Given the description of an element on the screen output the (x, y) to click on. 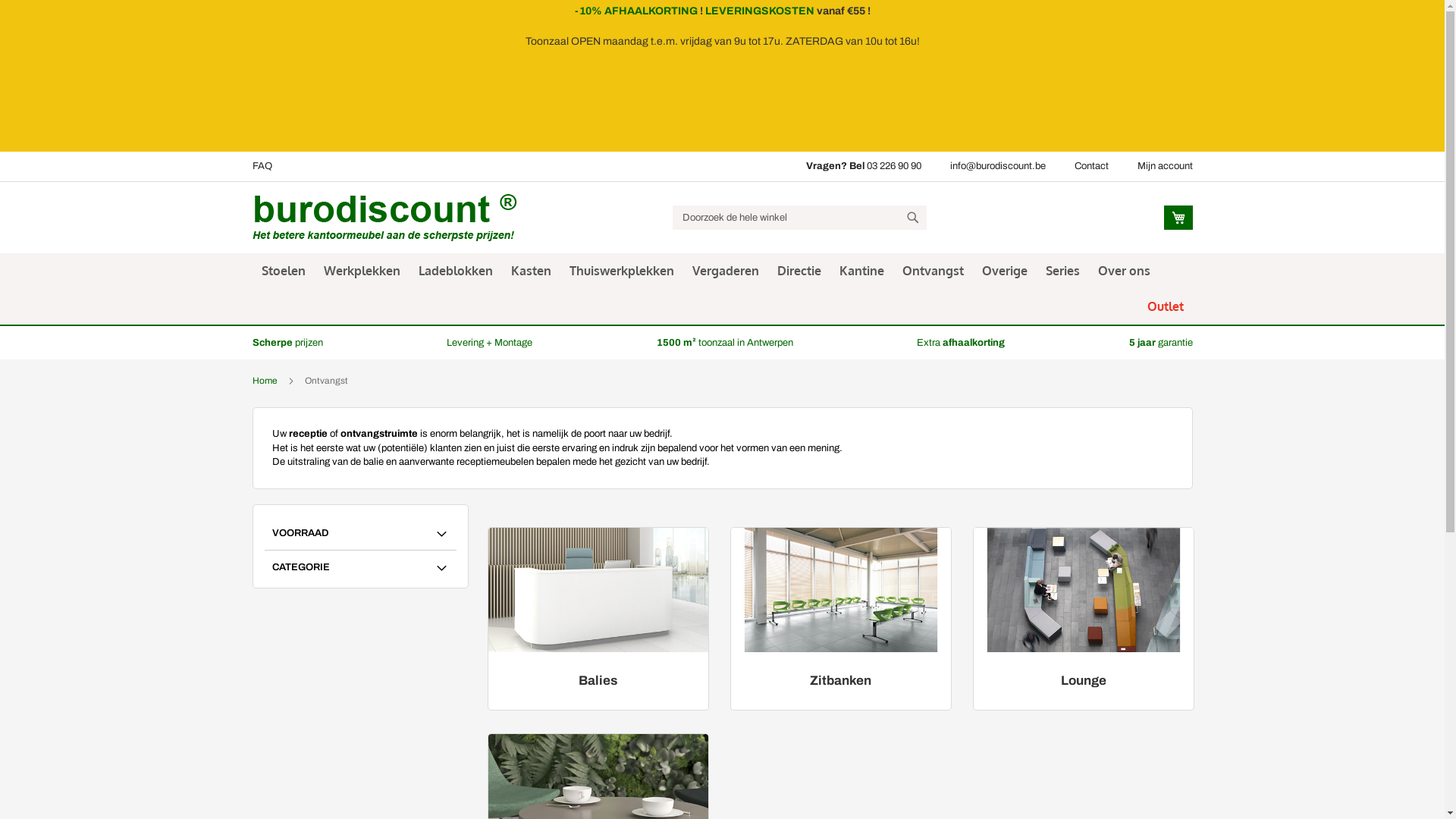
Zoek Element type: text (912, 217)
Kasten Element type: text (531, 270)
Ontvangst Element type: text (932, 270)
Home Element type: text (263, 380)
Mijn winkelmandje Element type: text (1177, 217)
Vergaderen Element type: text (724, 270)
Overige Element type: text (1003, 270)
Lounge Element type: text (1082, 680)
info@burodiscount.be Element type: text (996, 165)
Levering + Montage Element type: text (489, 342)
Werkplekken Element type: text (360, 270)
-10% AFHAALKORTING Element type: text (635, 10)
Thuiswerkplekken Element type: text (620, 270)
5 jaar garantie Element type: text (1160, 342)
Burodiscount Element type: hover (383, 217)
Series Element type: text (1061, 270)
Balies Element type: text (597, 680)
FAQ Element type: text (261, 165)
Extra afhaalkorting Element type: text (960, 342)
Zitbanken Element type: text (840, 680)
Vragen? Bel 03 226 90 90 Element type: text (862, 165)
Kantine Element type: text (860, 270)
Contact Element type: text (1090, 165)
Outlet Element type: text (1164, 306)
Scherpe prijzen Element type: text (286, 342)
Over ons Element type: text (1123, 270)
Ladeblokken Element type: text (455, 270)
Directie Element type: text (798, 270)
LEVERINGSKOSTEN Element type: text (759, 10)
Stoelen Element type: text (282, 270)
Mijn account Element type: text (1164, 165)
